Given the description of an element on the screen output the (x, y) to click on. 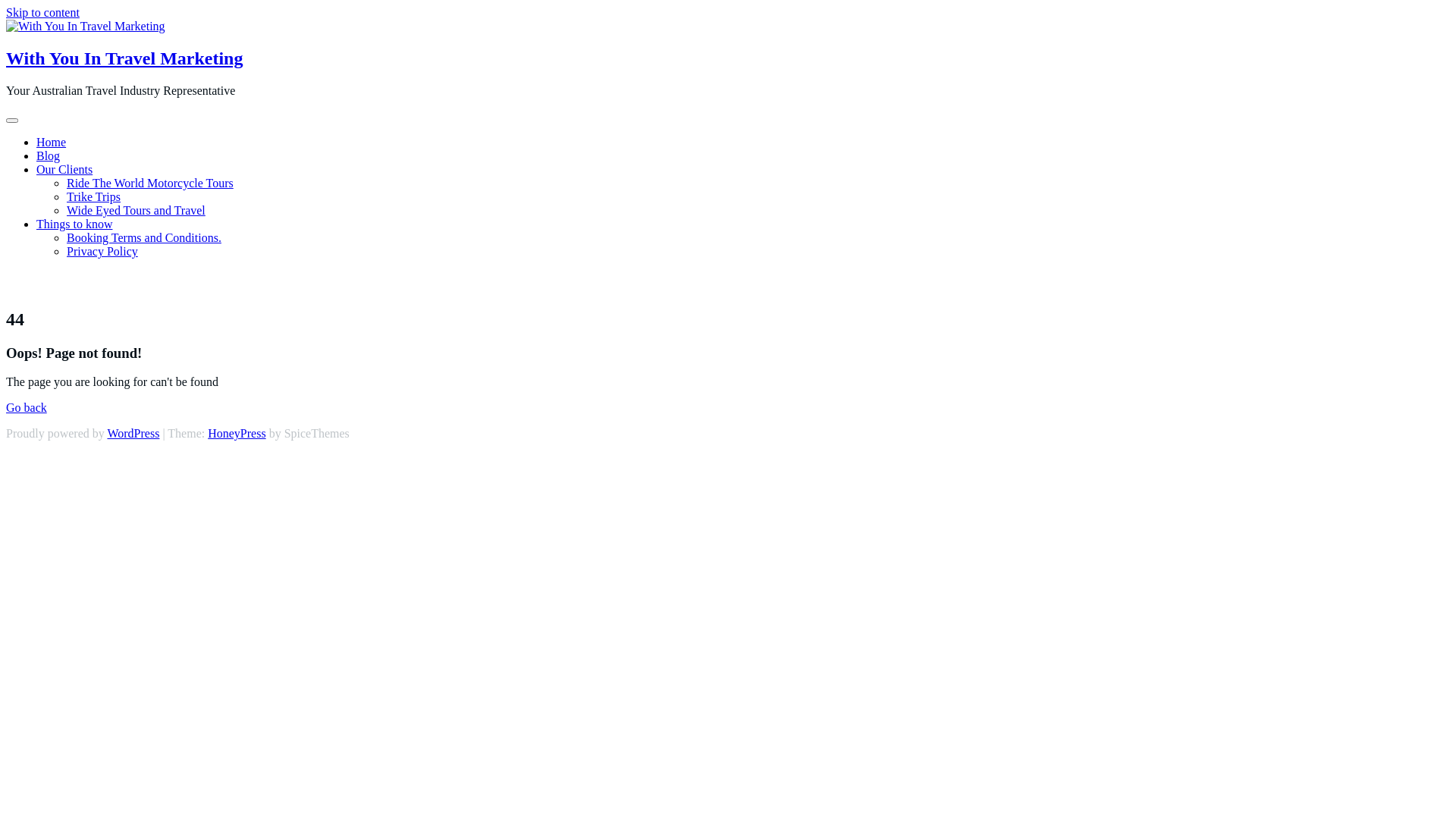
Ride The World Motorcycle Tours Element type: text (149, 182)
HoneyPress Element type: text (236, 432)
Booking Terms and Conditions. Element type: text (143, 237)
WordPress Element type: text (132, 432)
Things to know Element type: text (74, 223)
With You In Travel Marketing Element type: text (124, 58)
Blog Element type: text (47, 155)
Privacy Policy Element type: text (102, 250)
Home Element type: text (50, 141)
Wide Eyed Tours and Travel Element type: text (135, 209)
Go back Element type: text (26, 407)
Skip to content Element type: text (42, 12)
Our Clients Element type: text (64, 169)
Trike Trips Element type: text (93, 196)
